Given the description of an element on the screen output the (x, y) to click on. 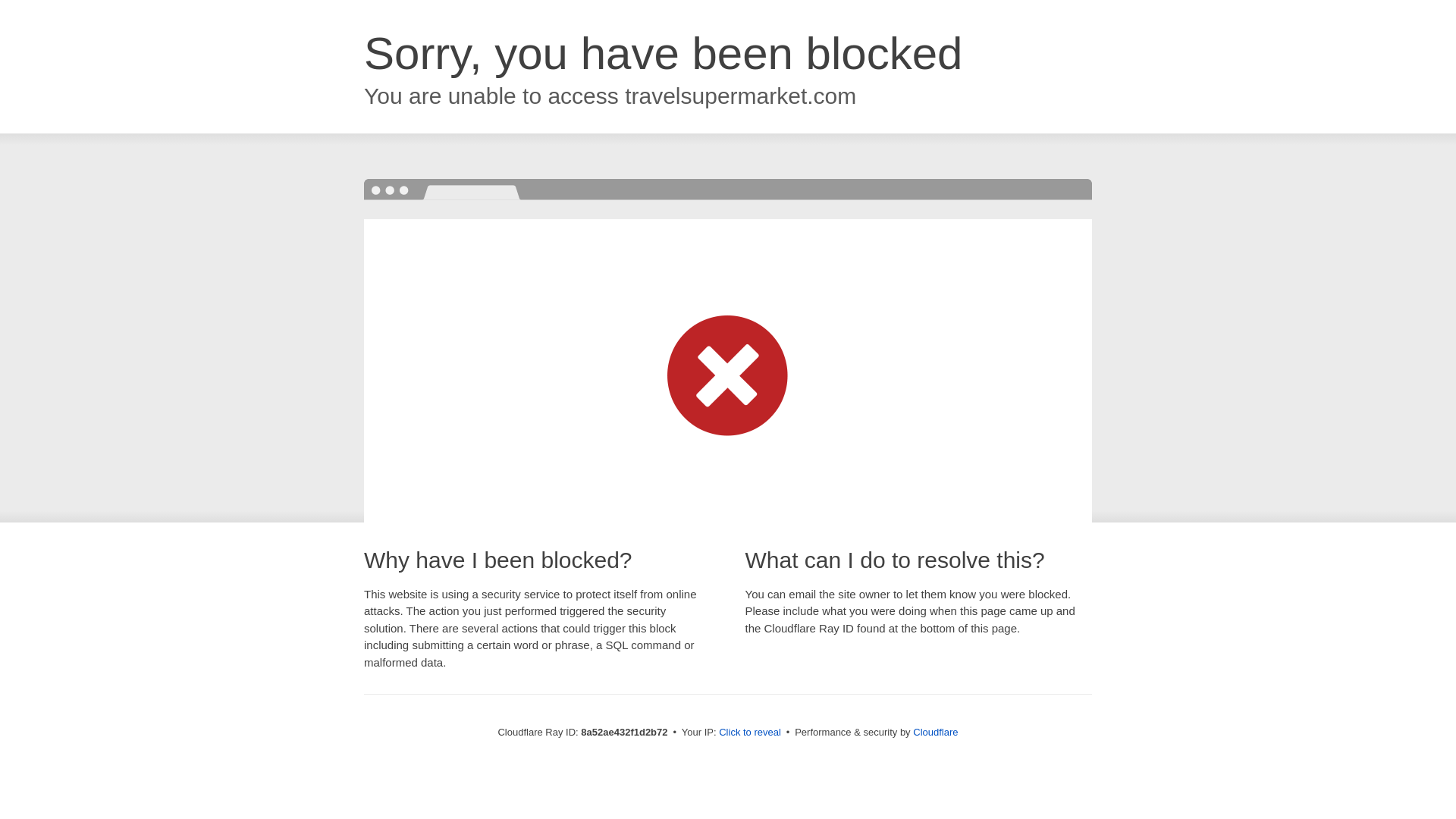
Cloudflare (935, 731)
Click to reveal (749, 732)
